Given the description of an element on the screen output the (x, y) to click on. 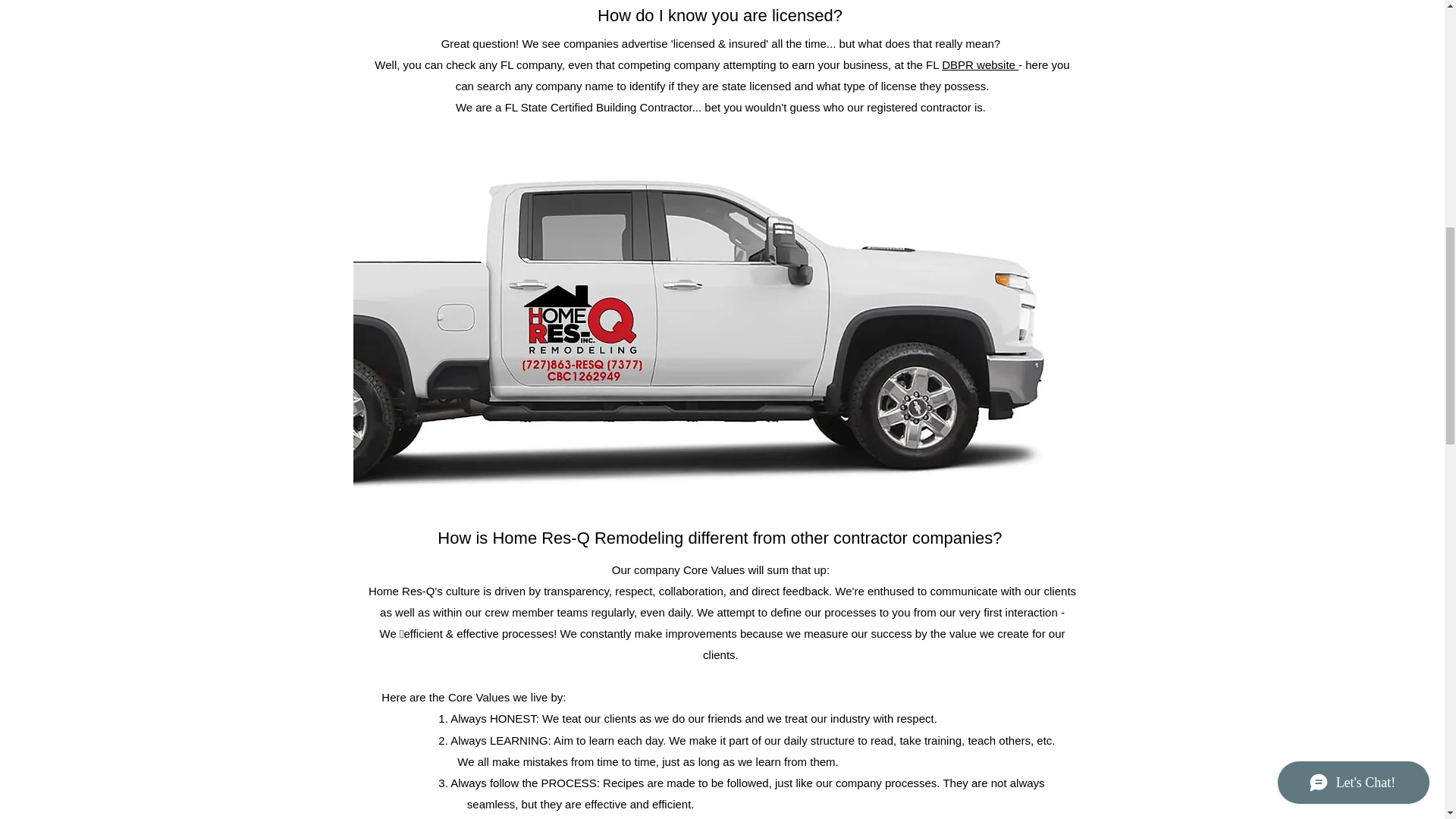
DBPR website (979, 64)
